Given the description of an element on the screen output the (x, y) to click on. 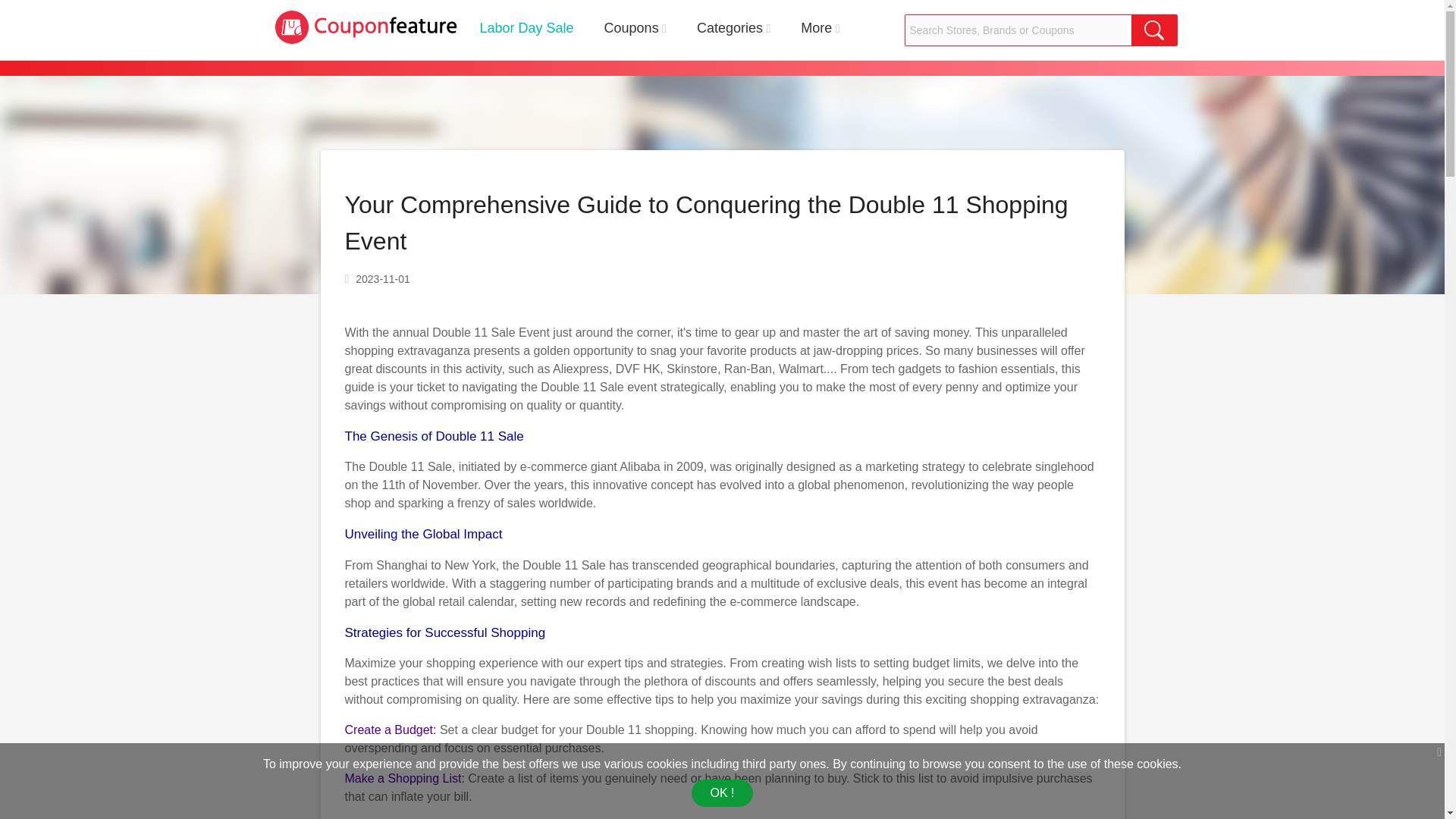
Categories (729, 28)
search (1153, 30)
Categories (729, 28)
Labor Day Sale (526, 28)
search (1153, 30)
Coupons (631, 28)
couponfeature.com (365, 26)
Labor Day Sale (526, 28)
Coupons (631, 28)
More (815, 28)
